Given the description of an element on the screen output the (x, y) to click on. 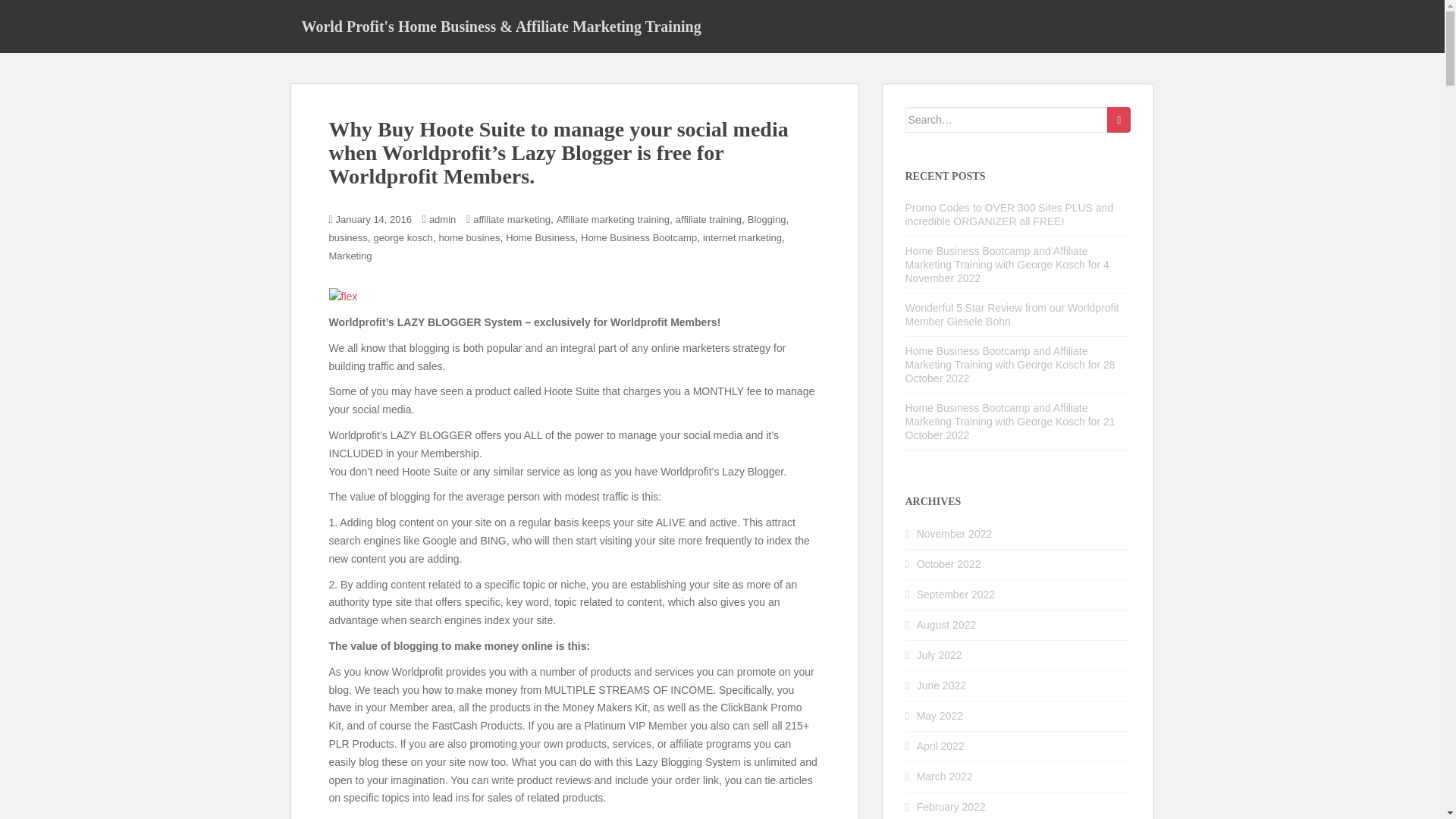
Marketing (350, 255)
Blogging (767, 219)
September 2022 (956, 594)
Home Business Bootcamp (638, 237)
affiliate training (708, 219)
internet marketing (742, 237)
Search (1118, 119)
admin (442, 219)
home busines (468, 237)
business (348, 237)
